Given the description of an element on the screen output the (x, y) to click on. 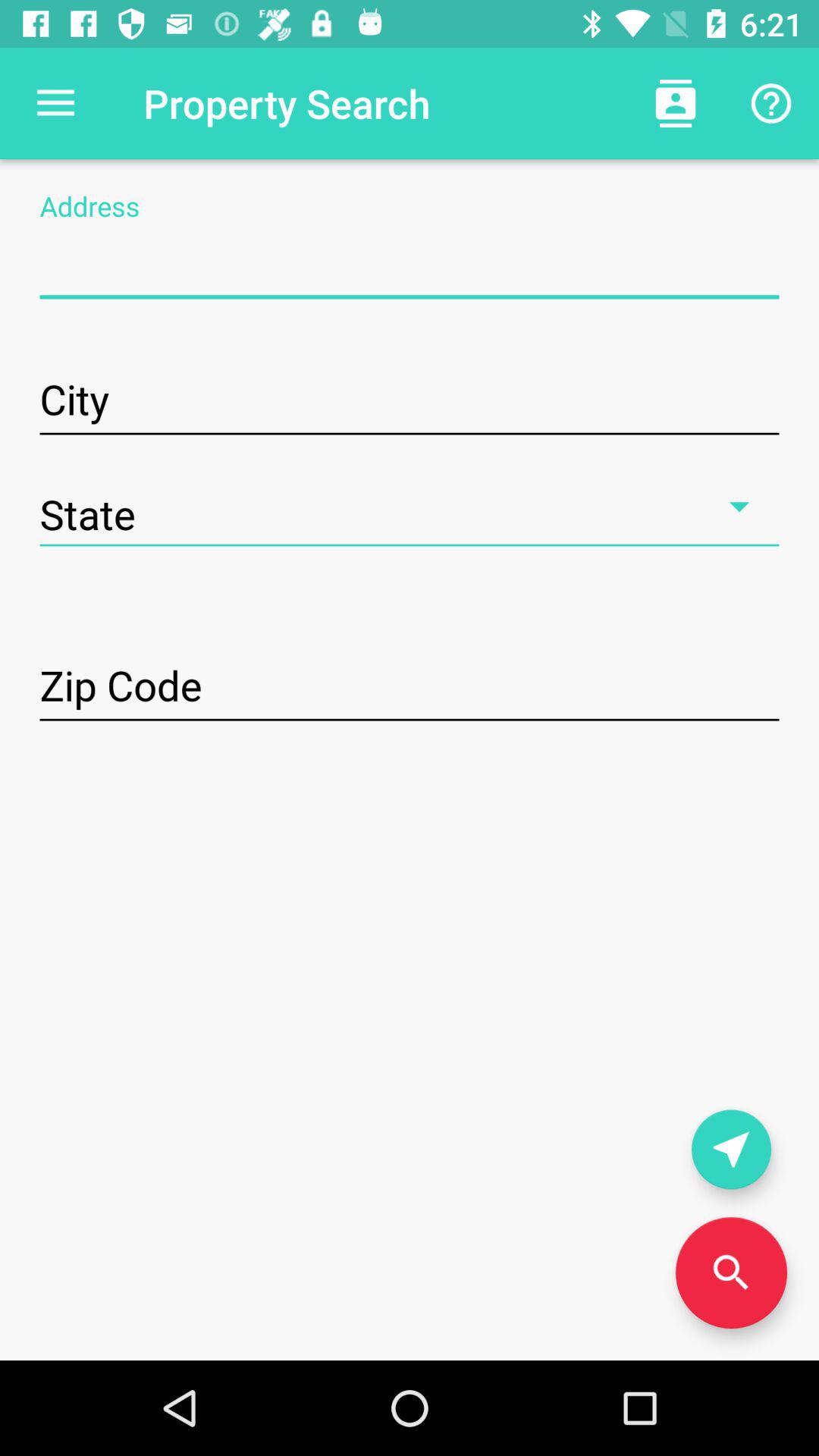
launch item to the right of property search icon (675, 103)
